Given the description of an element on the screen output the (x, y) to click on. 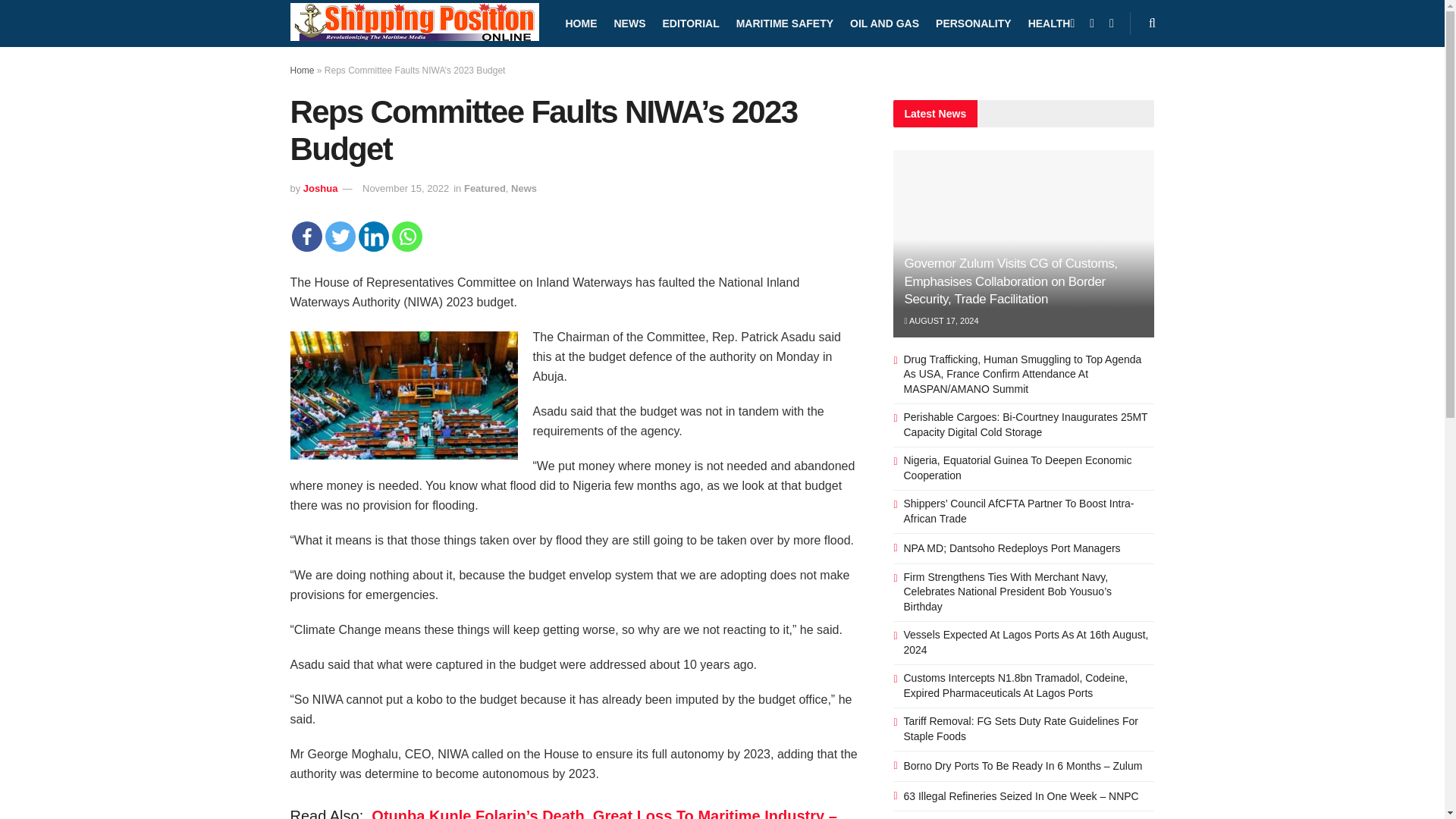
Linkedin (373, 236)
Joshua (319, 188)
PERSONALITY (973, 23)
HEALTH (1048, 23)
Facebook (306, 236)
OIL AND GAS (884, 23)
Featured (484, 188)
EDITORIAL (690, 23)
November 15, 2022 (405, 188)
News (524, 188)
